Given the description of an element on the screen output the (x, y) to click on. 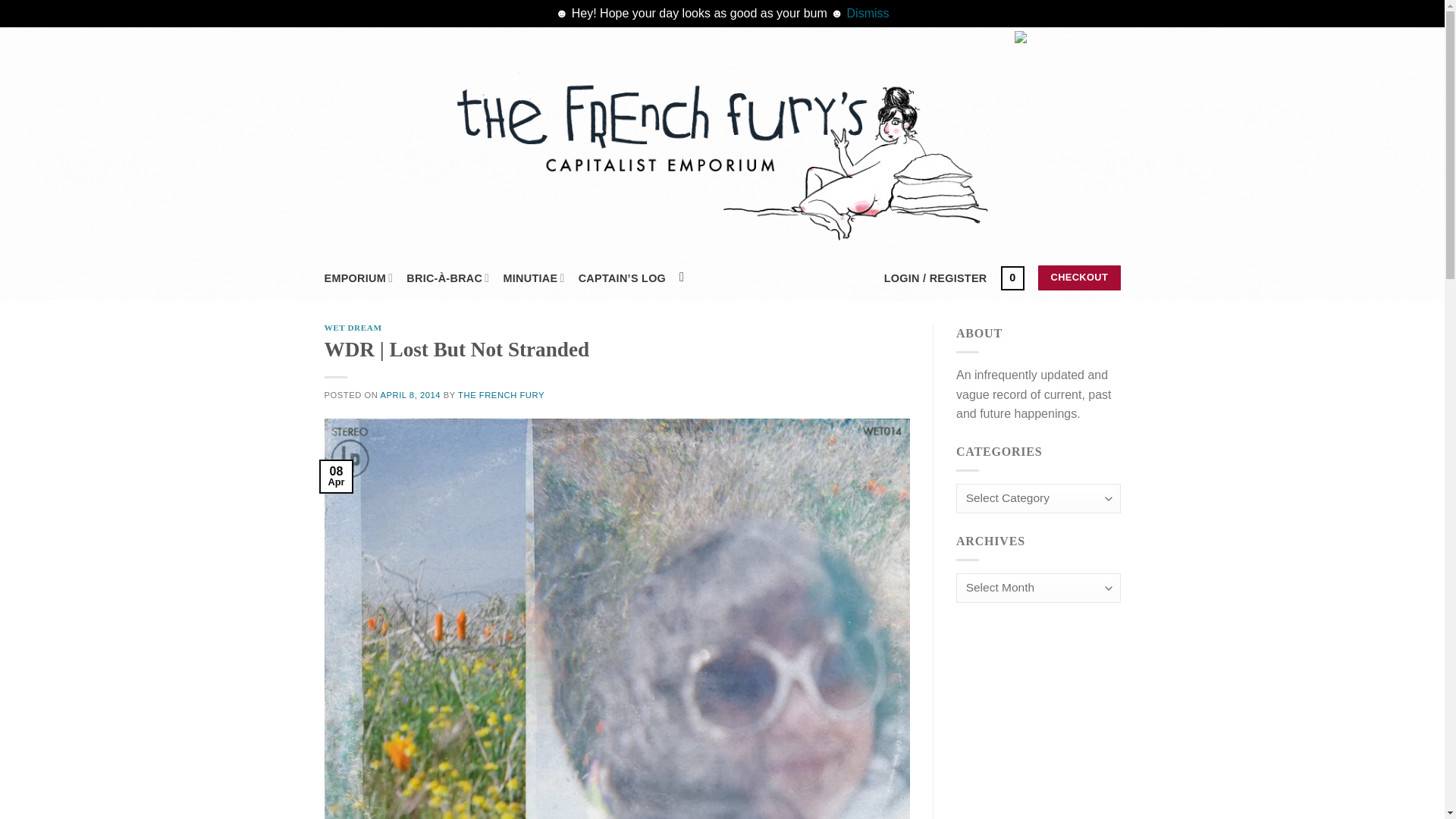
CHECKOUT (1078, 277)
APRIL 8, 2014 (410, 394)
WET DREAM (352, 327)
THE FRENCH FURY (501, 394)
EMPORIUM (358, 277)
MINUTIAE (533, 277)
Login (935, 278)
Capitalist Emporium! - Keep Busy. Do Good. Be Bad. (722, 156)
Dismiss (868, 12)
